Given the description of an element on the screen output the (x, y) to click on. 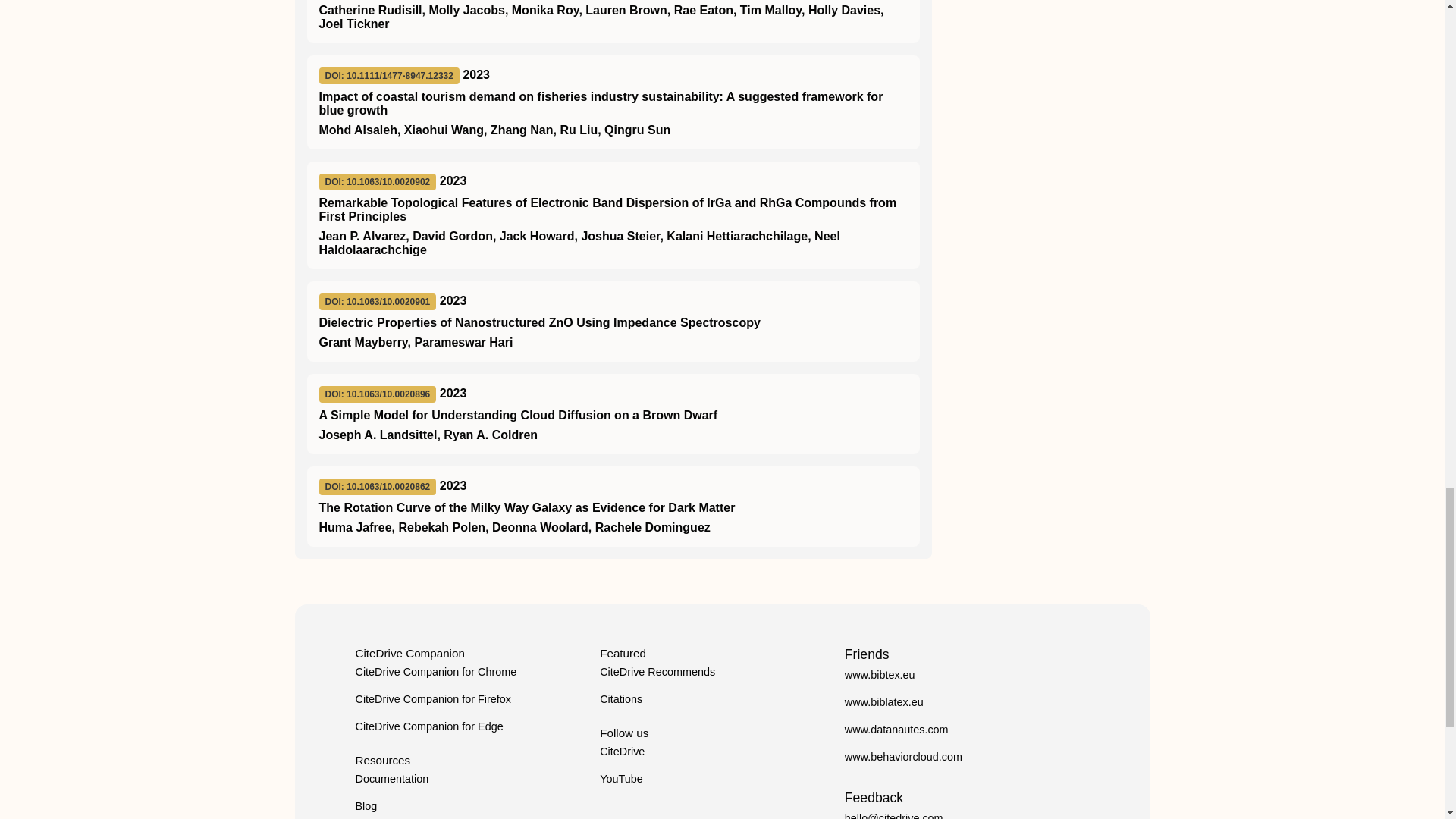
Blog (366, 806)
YouTube (621, 778)
CiteDrive Companion for Firefox (433, 698)
CiteDrive Recommends (656, 671)
CiteDrive Companion for Chrome (435, 671)
Citations (620, 698)
CiteDrive (622, 751)
CiteDrive Companion for Edge (428, 726)
Documentation (391, 778)
